Given the description of an element on the screen output the (x, y) to click on. 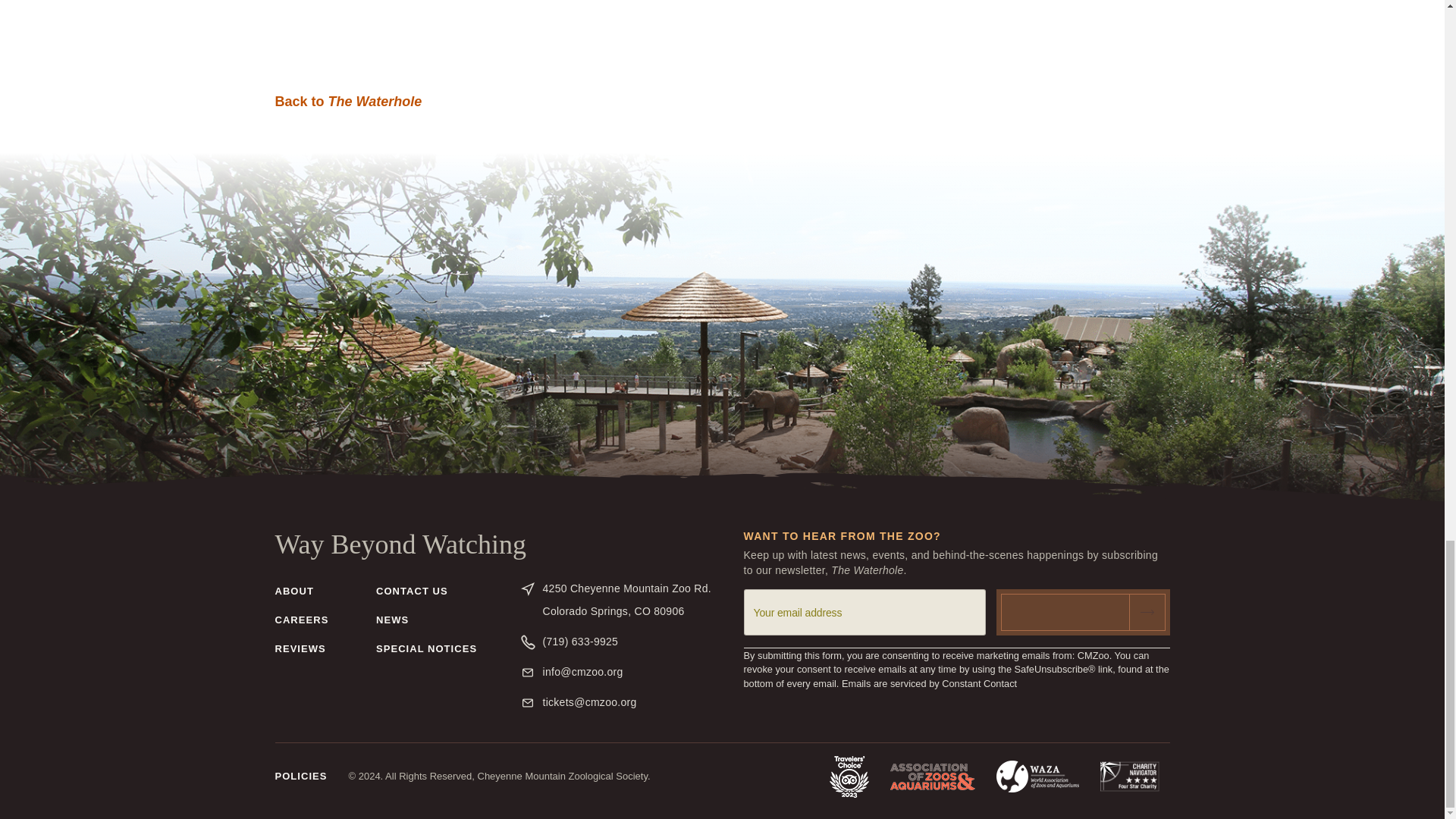
YouTube video player (722, 32)
SPECIAL NOTICES (632, 600)
Subscribe (426, 653)
Subscribe (1082, 611)
Emails are serviced by Constant Contact (1082, 611)
NEWS (928, 683)
Back to The Waterhole (392, 624)
REVIEWS (348, 102)
POLICIES (299, 653)
ABOUT (300, 776)
CONTACT US (294, 595)
CAREERS (411, 595)
